Given the description of an element on the screen output the (x, y) to click on. 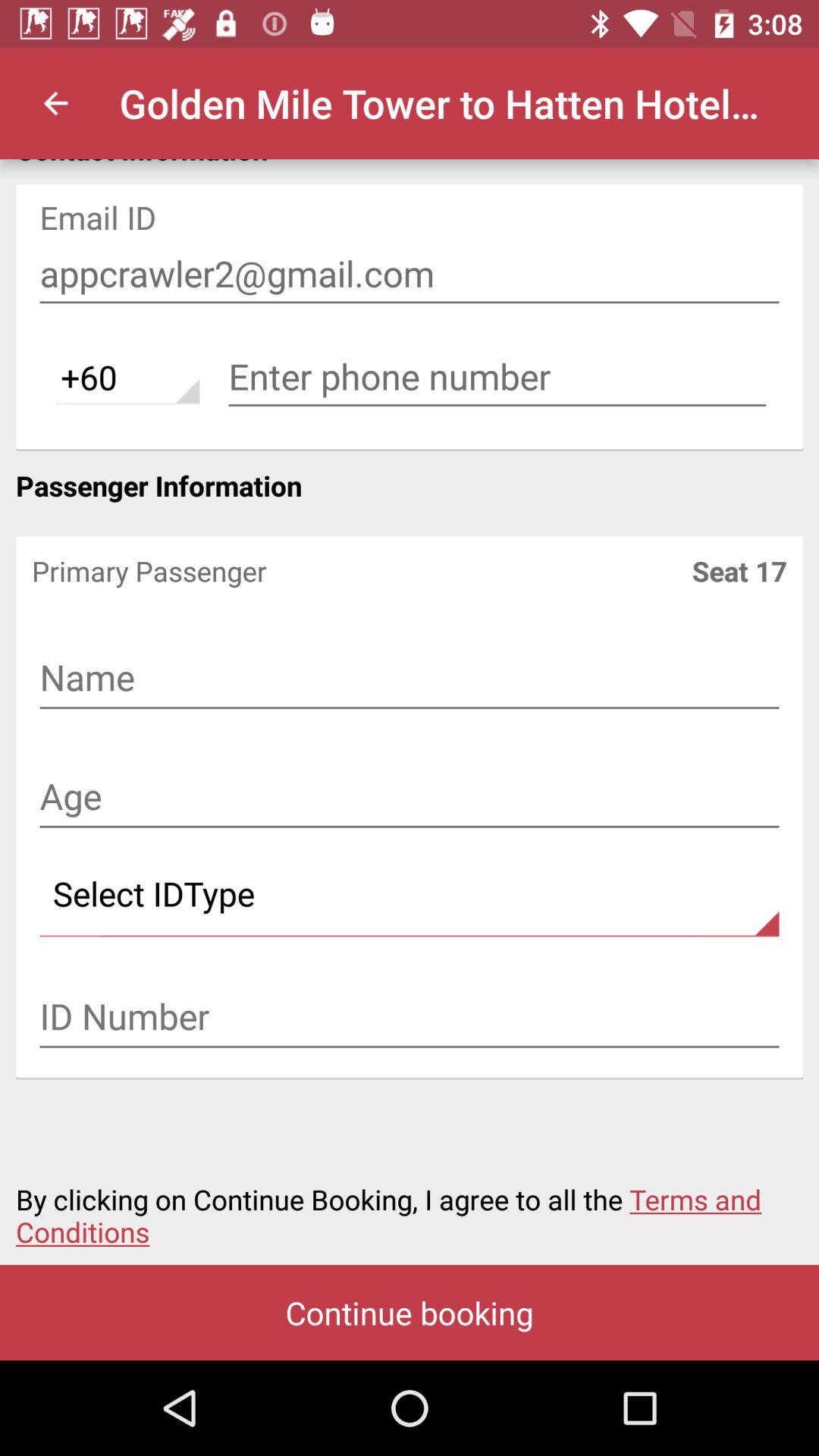
choose icon to the left of golden mile tower item (55, 103)
